Given the description of an element on the screen output the (x, y) to click on. 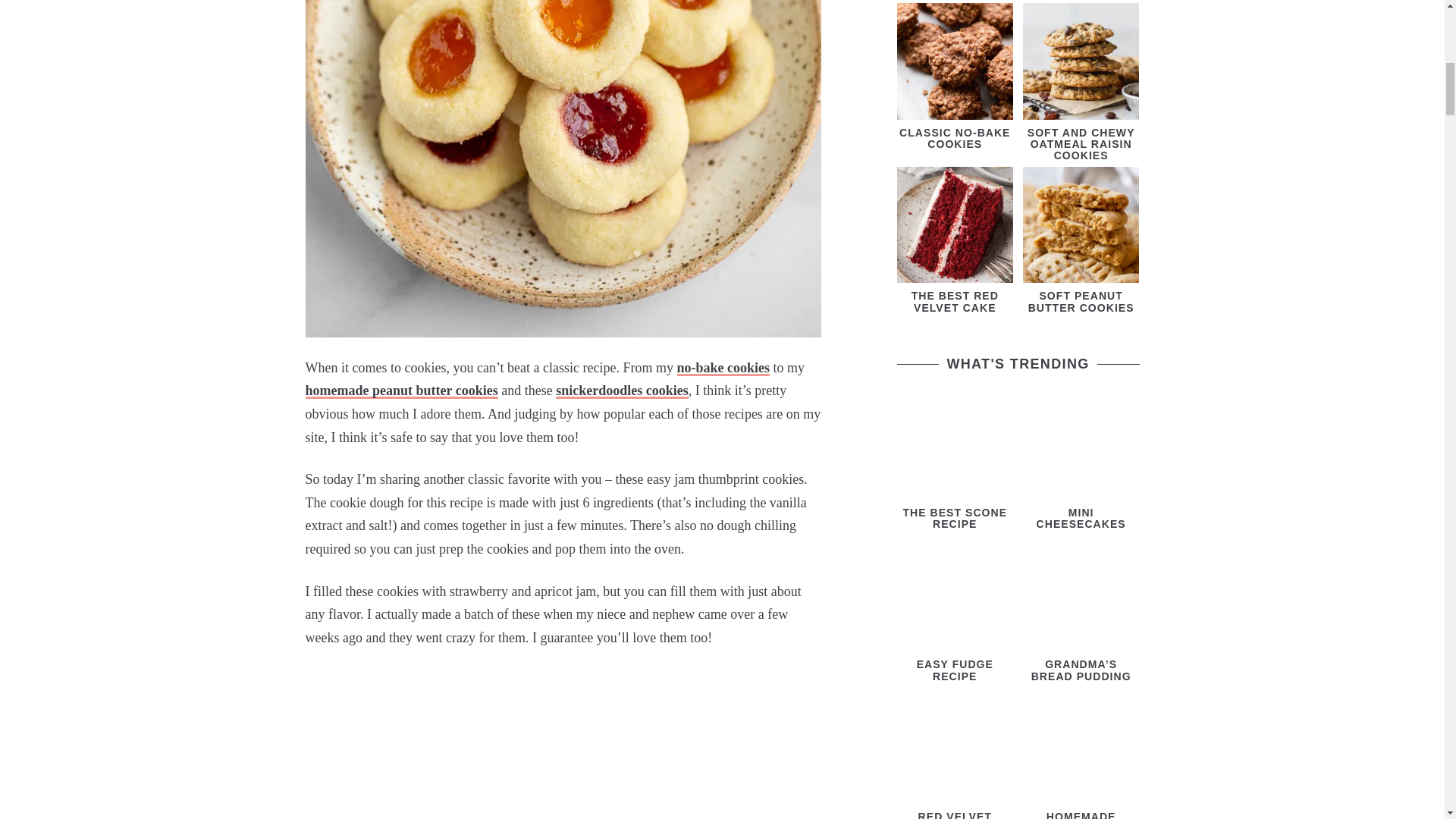
homemade peanut butter cookies (400, 390)
no-bake cookies (723, 367)
snickerdoodles cookies (622, 390)
